Given the description of an element on the screen output the (x, y) to click on. 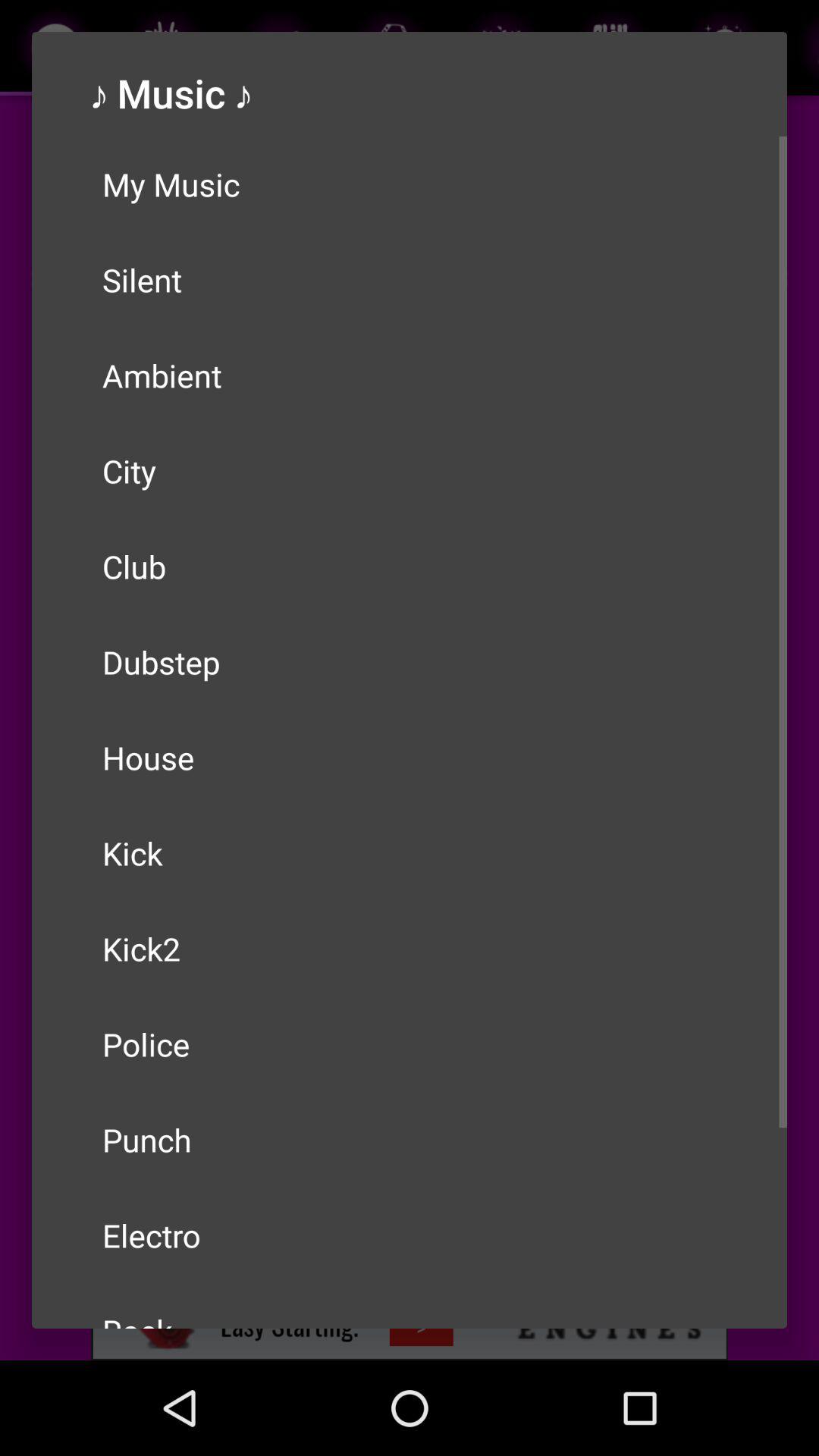
flip until the 		house item (409, 757)
